Given the description of an element on the screen output the (x, y) to click on. 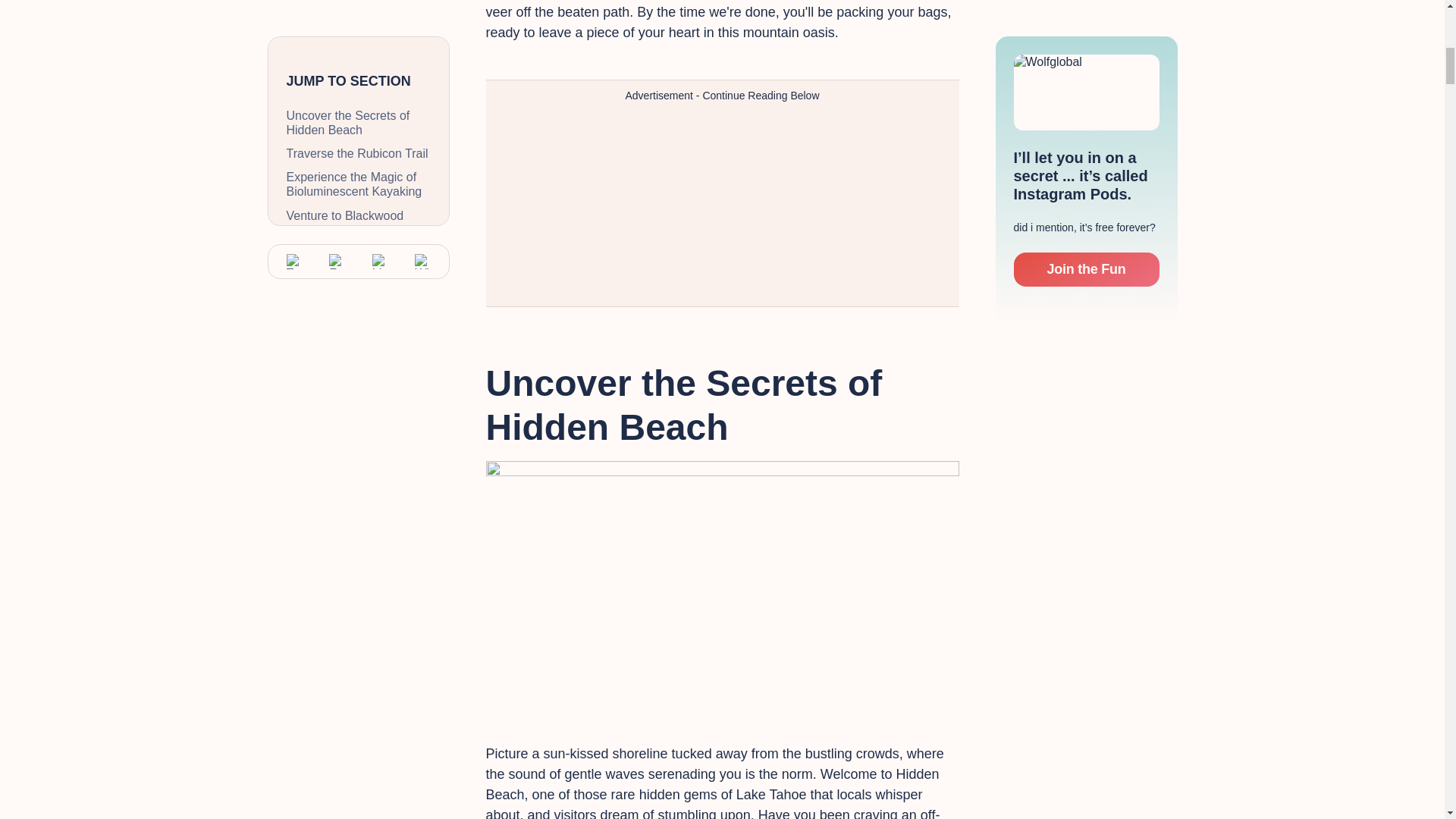
Final Words (358, 225)
FAQ (358, 201)
Stargaze at Spooner Lake's Observatory (358, 171)
Capture the Alpine Glow at Bonsai Rock (358, 94)
Enjoy a Musical Evening at Valhalla Tahoe (358, 132)
Relax at Secret Cove's Tranquil Shores (358, 55)
Explore the Less Trodden Tallac Trails (358, 18)
